Given the description of an element on the screen output the (x, y) to click on. 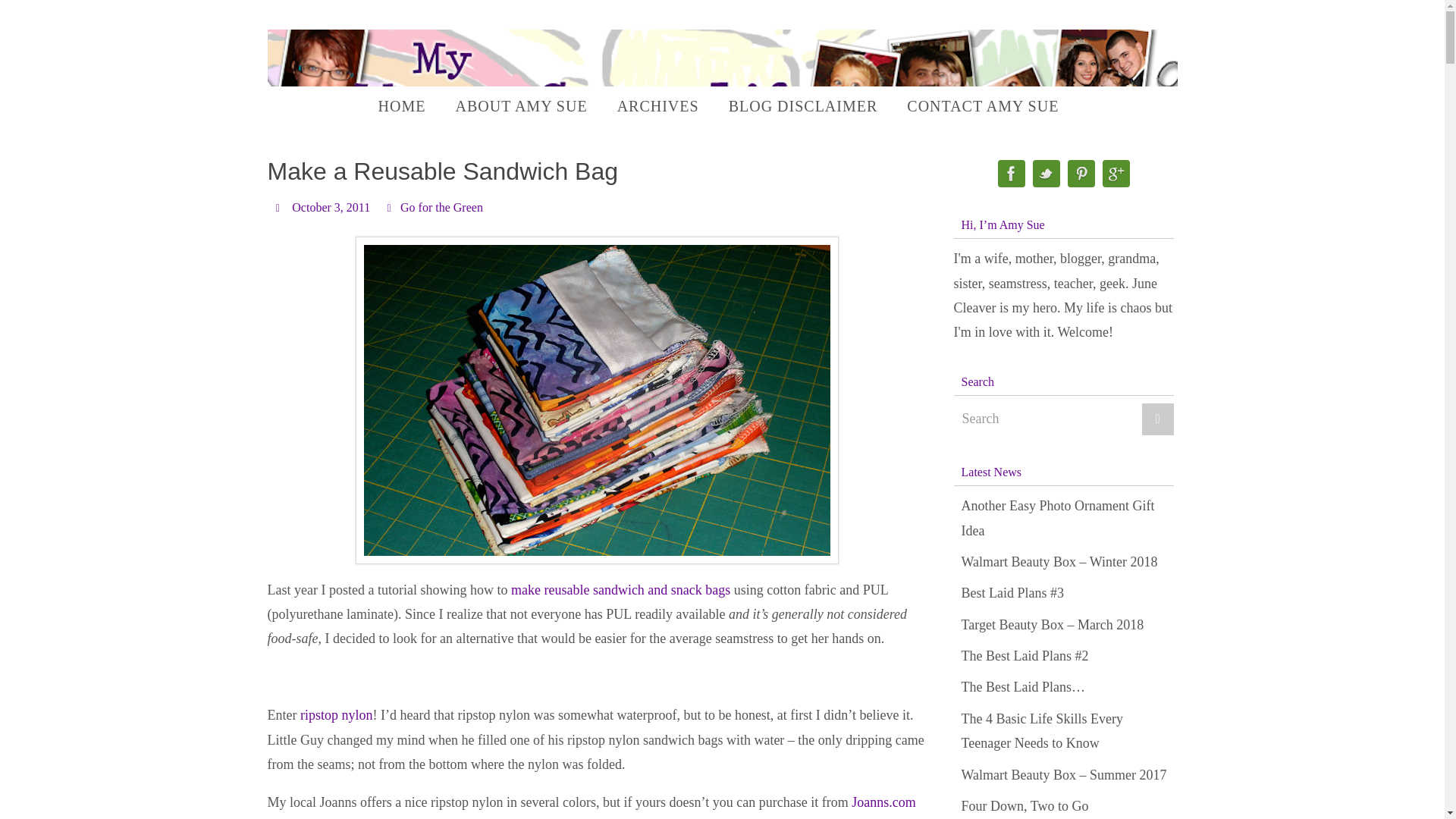
Read About Ripstop Nylon Now! (335, 714)
Buy Ripstop Nylon from Joanns.com (883, 801)
HOME (402, 106)
ripstop nylon (335, 714)
make reusable sandwich and snack bags (620, 589)
Make a Reusable Snack Bag (620, 589)
October 3, 2011 (330, 207)
Date (278, 206)
ARCHIVES (658, 106)
Joanns.com (883, 801)
Search (1063, 418)
BLOG DISCLAIMER (802, 106)
CONTACT AMY SUE (982, 106)
Go for the Green (441, 207)
ABOUT AMY SUE (520, 106)
